Given the description of an element on the screen output the (x, y) to click on. 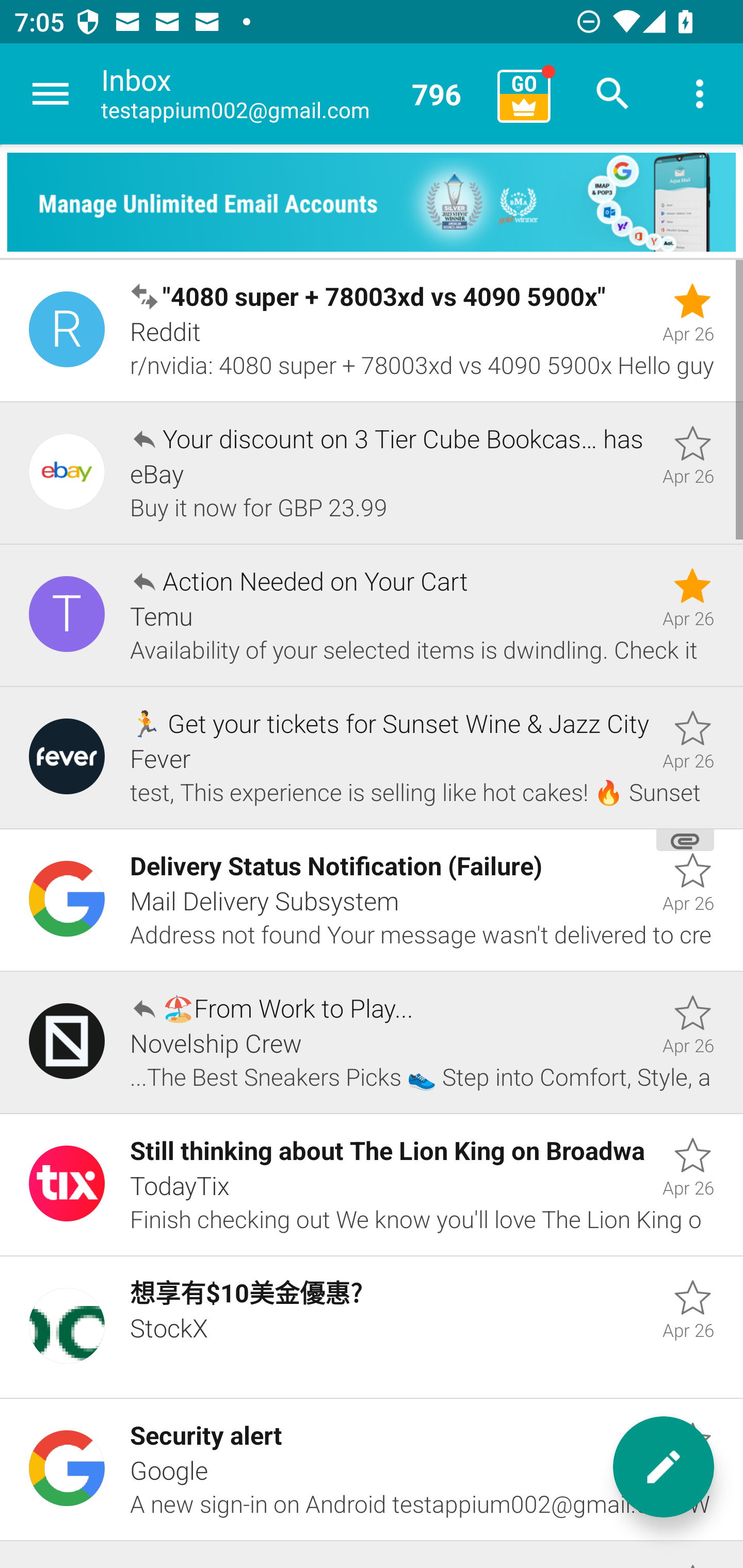
Navigate up (50, 93)
Inbox testappium002@gmail.com 796 (291, 93)
Search (612, 93)
More options (699, 93)
Unread, 想享有$10美金優惠?, StockX, Apr 26 (371, 1326)
New message (663, 1466)
